Given the description of an element on the screen output the (x, y) to click on. 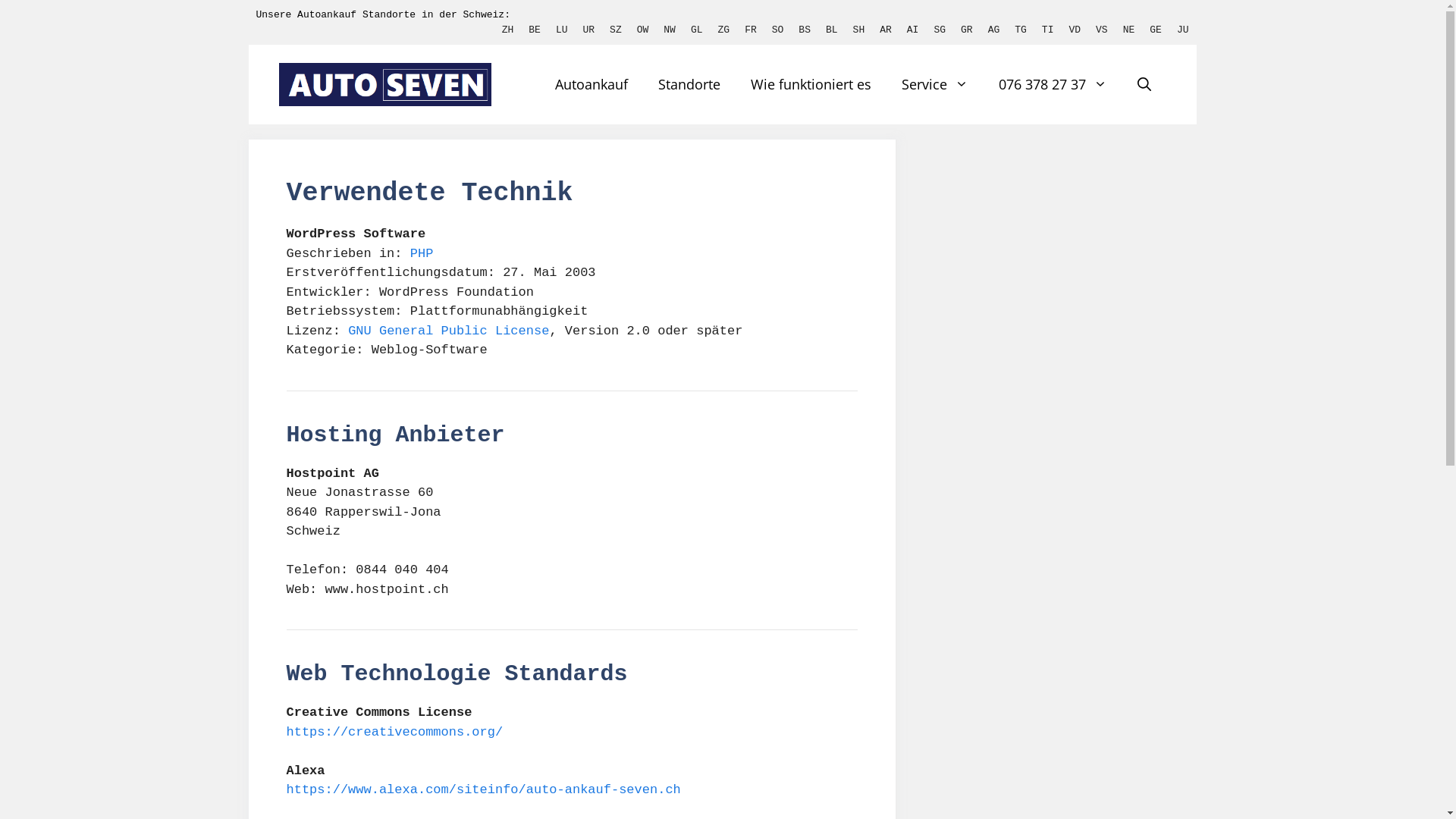
NE Element type: text (1129, 29)
Standorte Element type: text (689, 84)
TG Element type: text (1020, 29)
Service Element type: text (933, 84)
JU Element type: text (1182, 29)
SH Element type: text (859, 29)
GR Element type: text (966, 29)
OW Element type: text (643, 29)
GE Element type: text (1155, 29)
FR Element type: text (750, 29)
https://creativecommons.org/ Element type: text (394, 731)
GL Element type: text (696, 29)
BS Element type: text (804, 29)
BL Element type: text (831, 29)
SZ Element type: text (615, 29)
AG Element type: text (994, 29)
AR Element type: text (885, 29)
ZH Element type: text (508, 29)
076 378 27 37 Element type: text (1051, 84)
AI Element type: text (912, 29)
Wie funktioniert es Element type: text (810, 84)
TI Element type: text (1047, 29)
Autoankauf Element type: text (591, 84)
BE Element type: text (534, 29)
SO Element type: text (777, 29)
SG Element type: text (939, 29)
ZG Element type: text (724, 29)
VD Element type: text (1074, 29)
https://www.alexa.com/siteinfo/auto-ankauf-seven.ch Element type: text (483, 789)
GNU General Public License Element type: text (448, 330)
LU Element type: text (561, 29)
PHP Element type: text (421, 252)
VS Element type: text (1101, 29)
UR Element type: text (588, 29)
NW Element type: text (669, 29)
